Given the description of an element on the screen output the (x, y) to click on. 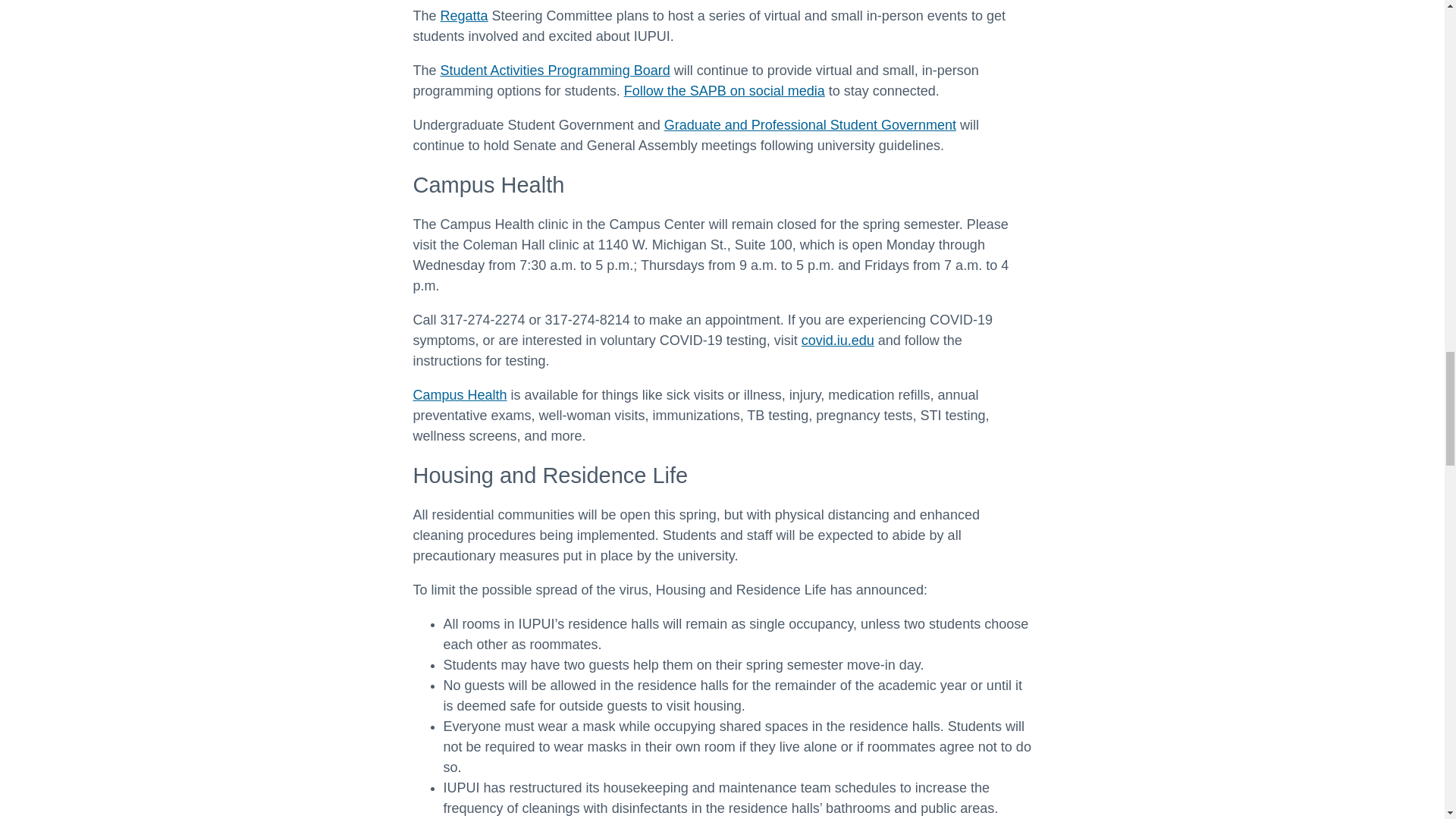
Graduate and Professional Student Government (809, 124)
Regatta (464, 15)
Campus Health (459, 394)
Student Activities Programming Board (555, 70)
covid.iu.edu (838, 340)
Follow the SAPB on social media (724, 90)
